Given the description of an element on the screen output the (x, y) to click on. 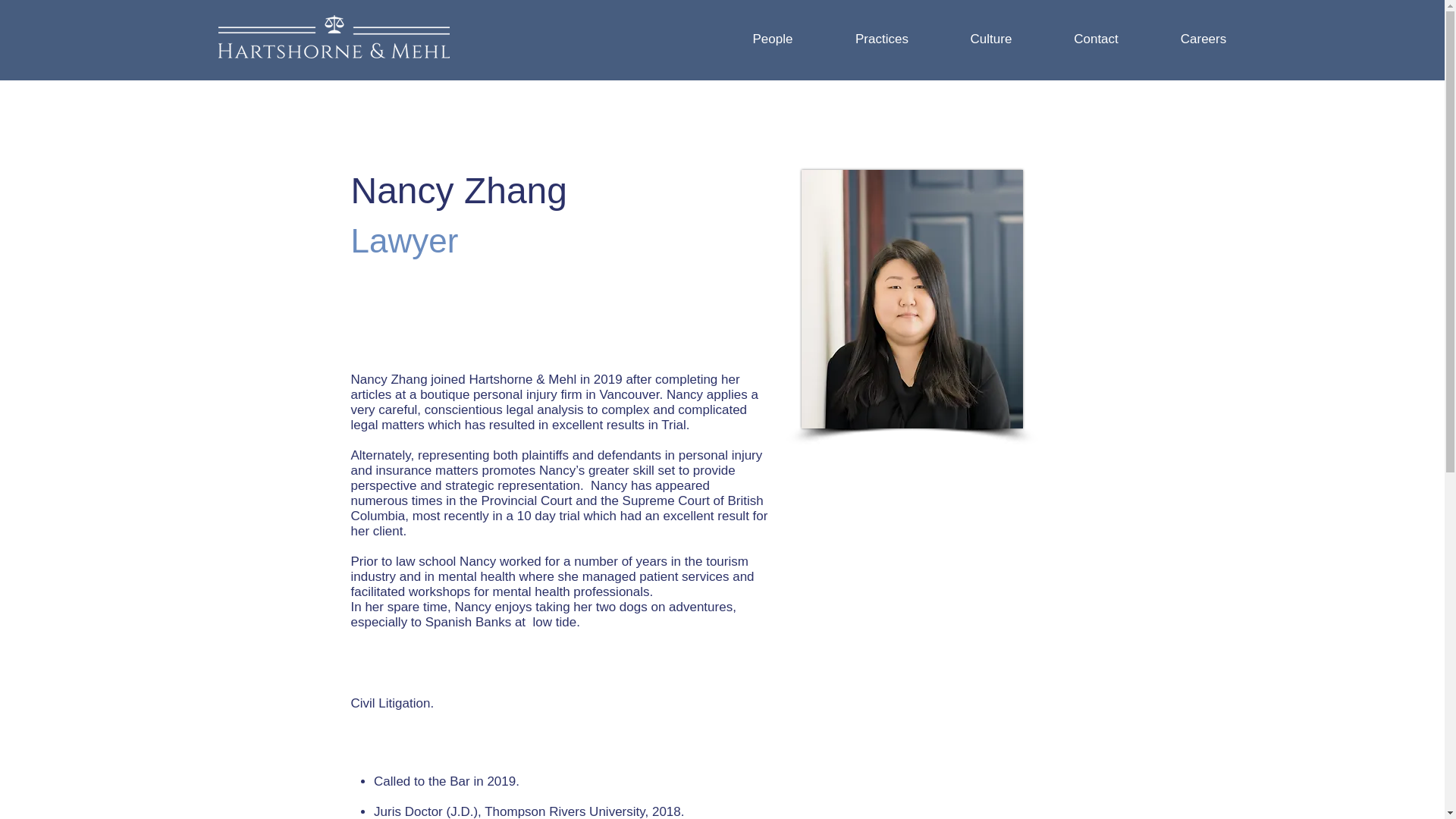
Practices (882, 39)
Contact (1096, 39)
Culture (990, 39)
Careers (1203, 39)
People (772, 39)
